Given the description of an element on the screen output the (x, y) to click on. 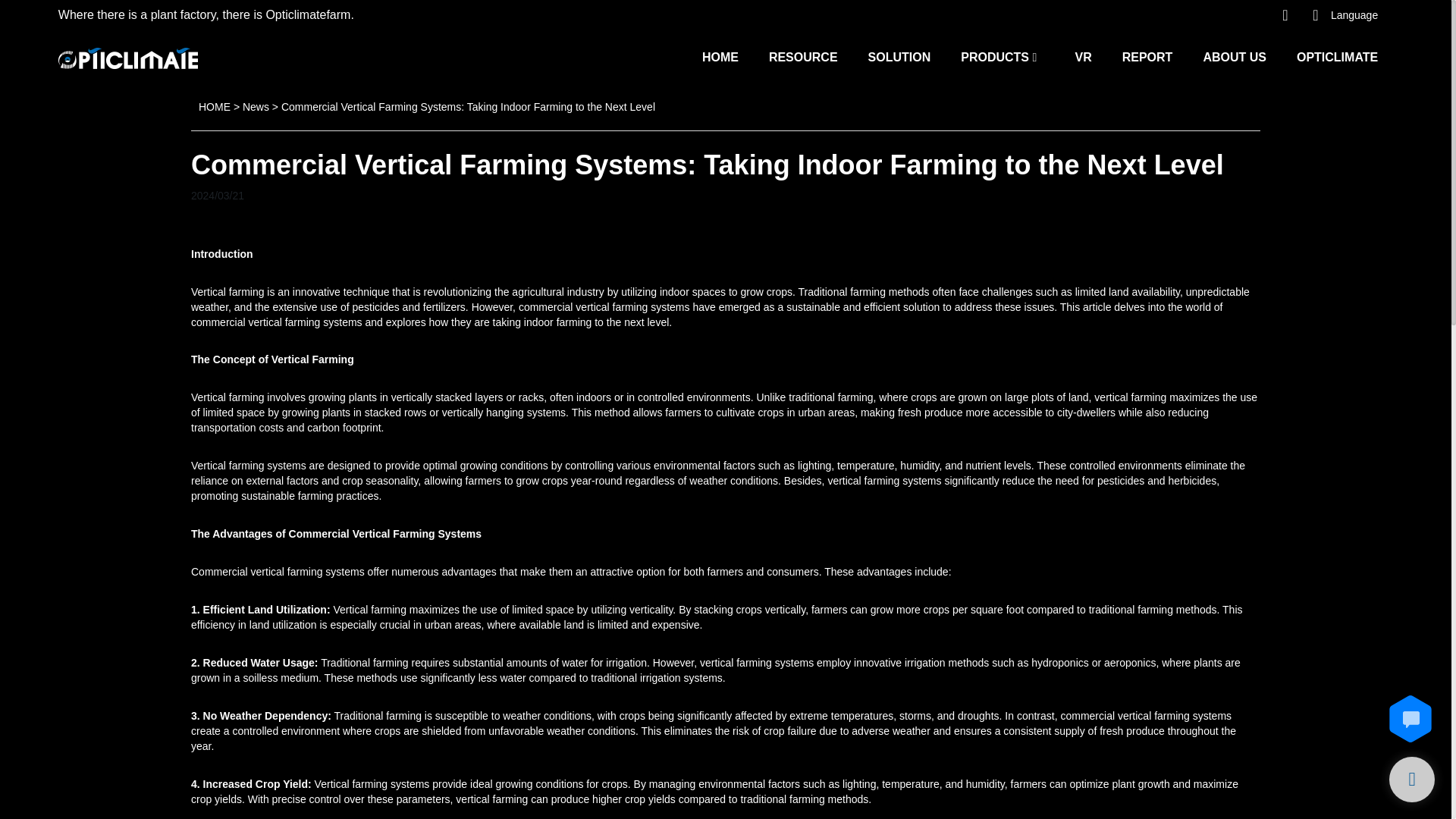
OPTICLIMATE (1337, 56)
SOLUTION (899, 56)
PRODUCTS (994, 56)
News (256, 106)
VR (1082, 56)
ABOUT US (1234, 56)
HOME (719, 56)
HOME (214, 106)
RESOURCE (803, 56)
REPORT (1147, 56)
